Given the description of an element on the screen output the (x, y) to click on. 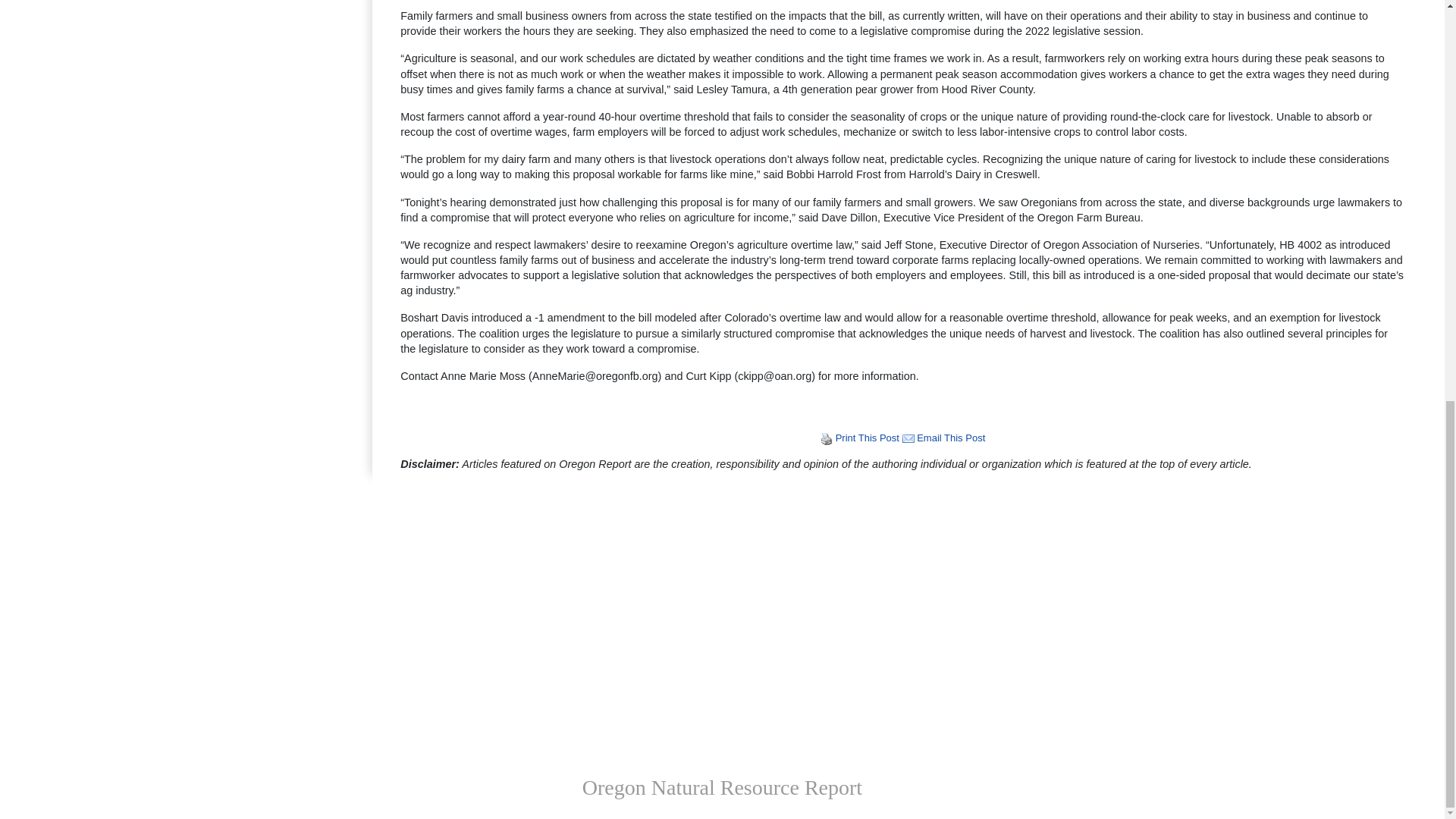
Print This Post (826, 439)
Email This Post (951, 437)
Print This Post (867, 437)
Print This Post (826, 437)
Print This Post (867, 437)
Oregon Natural Resource Report (721, 787)
Email This Post (908, 437)
Email This Post (908, 439)
